Given the description of an element on the screen output the (x, y) to click on. 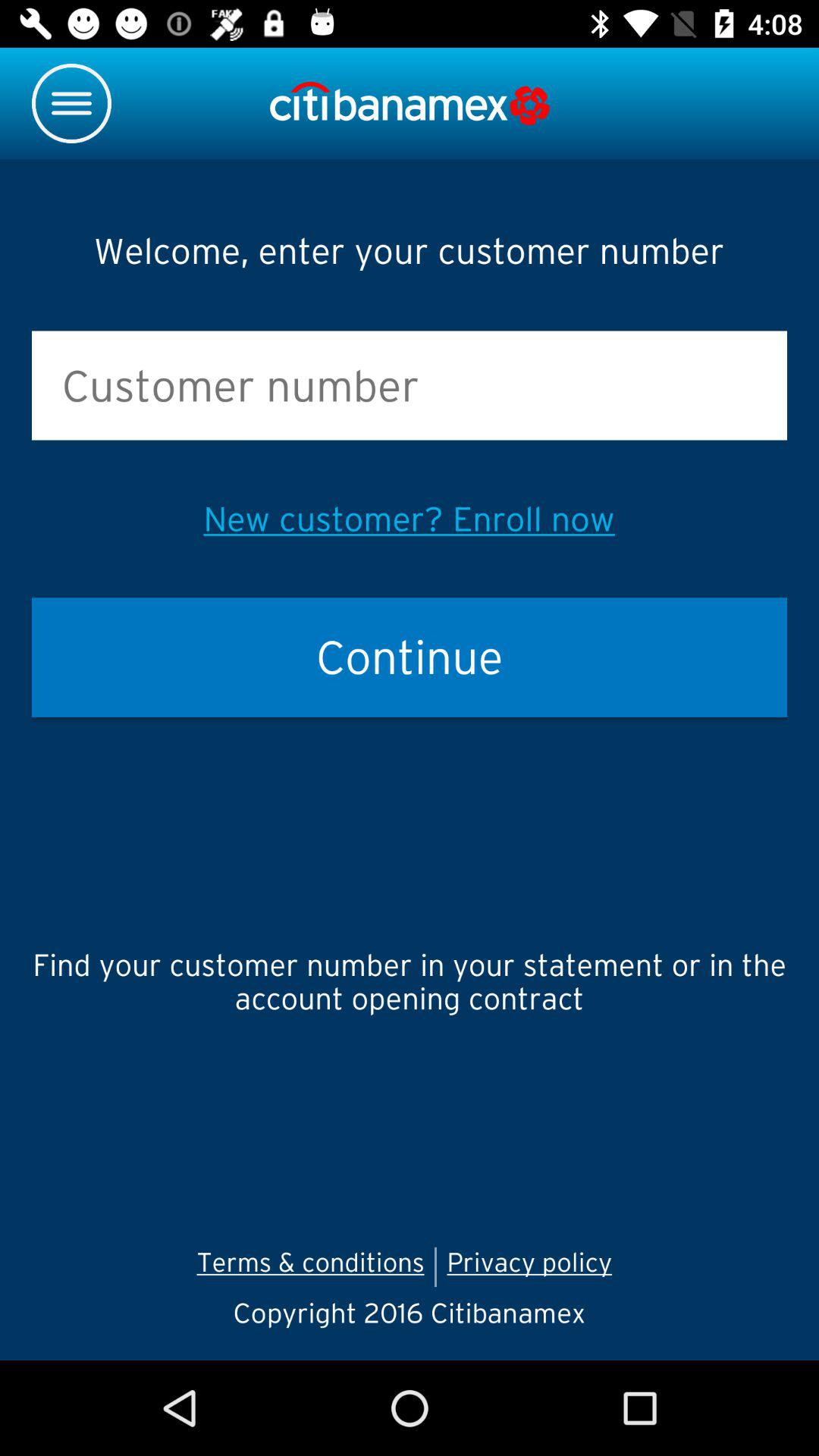
flip to the terms & conditions icon (310, 1267)
